Given the description of an element on the screen output the (x, y) to click on. 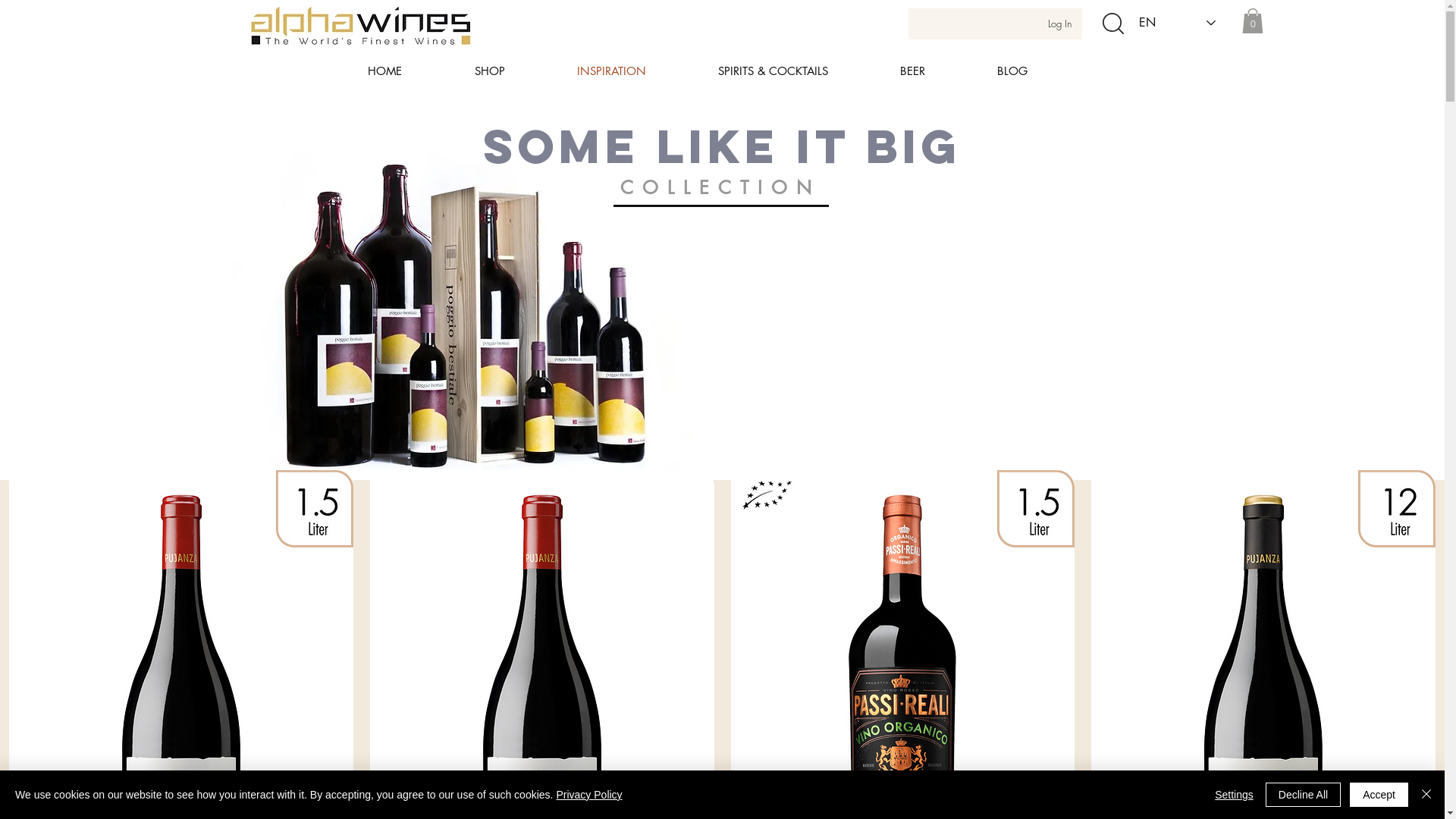
Accept Element type: text (1378, 794)
INSPIRATION Element type: text (635, 70)
Decline All Element type: text (1302, 794)
WhatsApp Image 2021-05-26 at 16.53.05.jp Element type: hover (463, 313)
SHOP Element type: text (513, 70)
SPIRITS & COCKTAILS Element type: text (797, 70)
Privacy Policy Element type: text (588, 794)
BLOG Element type: text (1036, 70)
HOME Element type: text (409, 70)
Log In Element type: text (1059, 23)
0 Element type: text (1252, 20)
BEER Element type: text (936, 70)
